Given the description of an element on the screen output the (x, y) to click on. 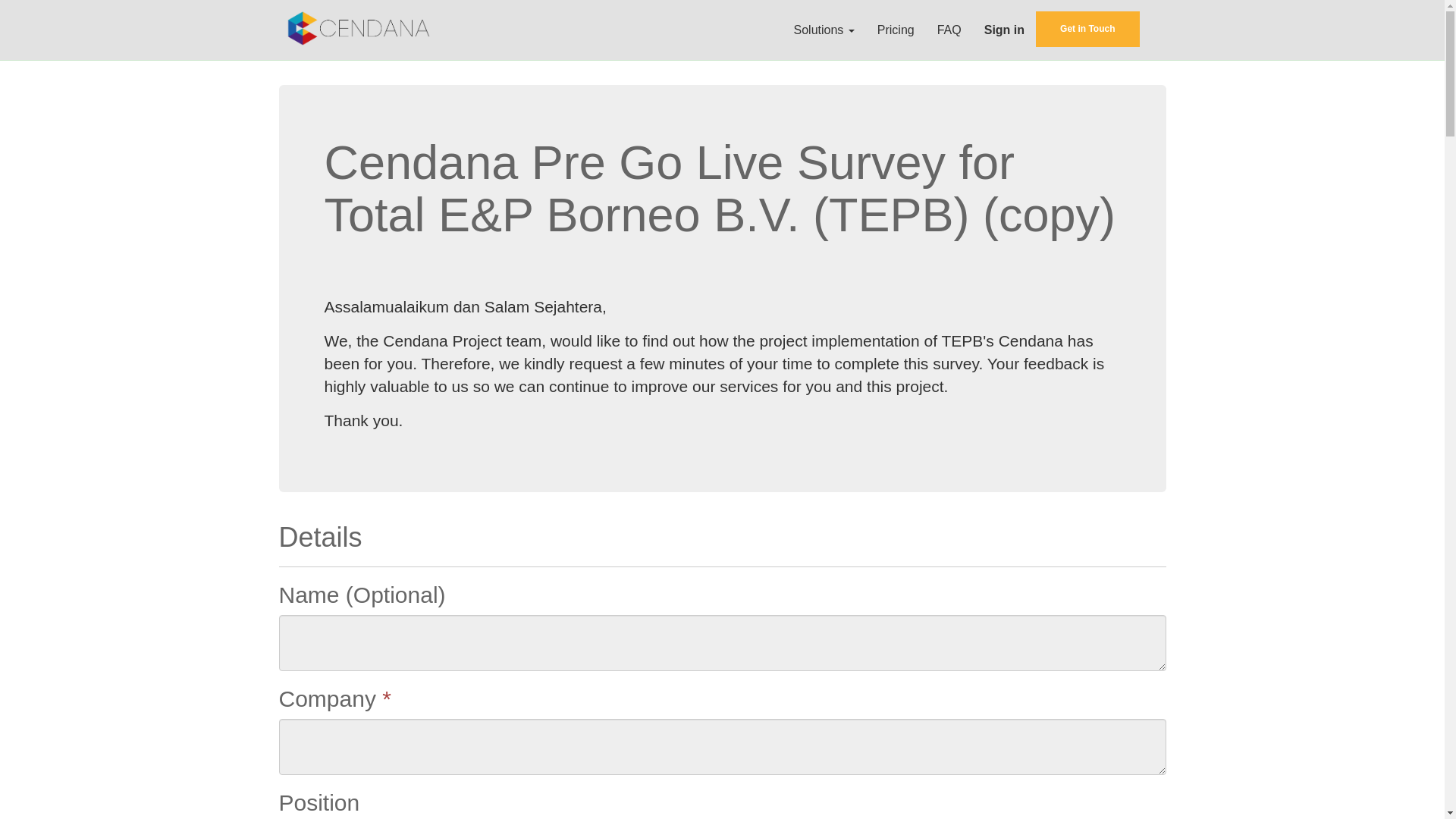
Solutions (824, 30)
Pricing (896, 30)
Get in Touch (1086, 28)
FAQ (949, 30)
Sign in (1003, 30)
